Given the description of an element on the screen output the (x, y) to click on. 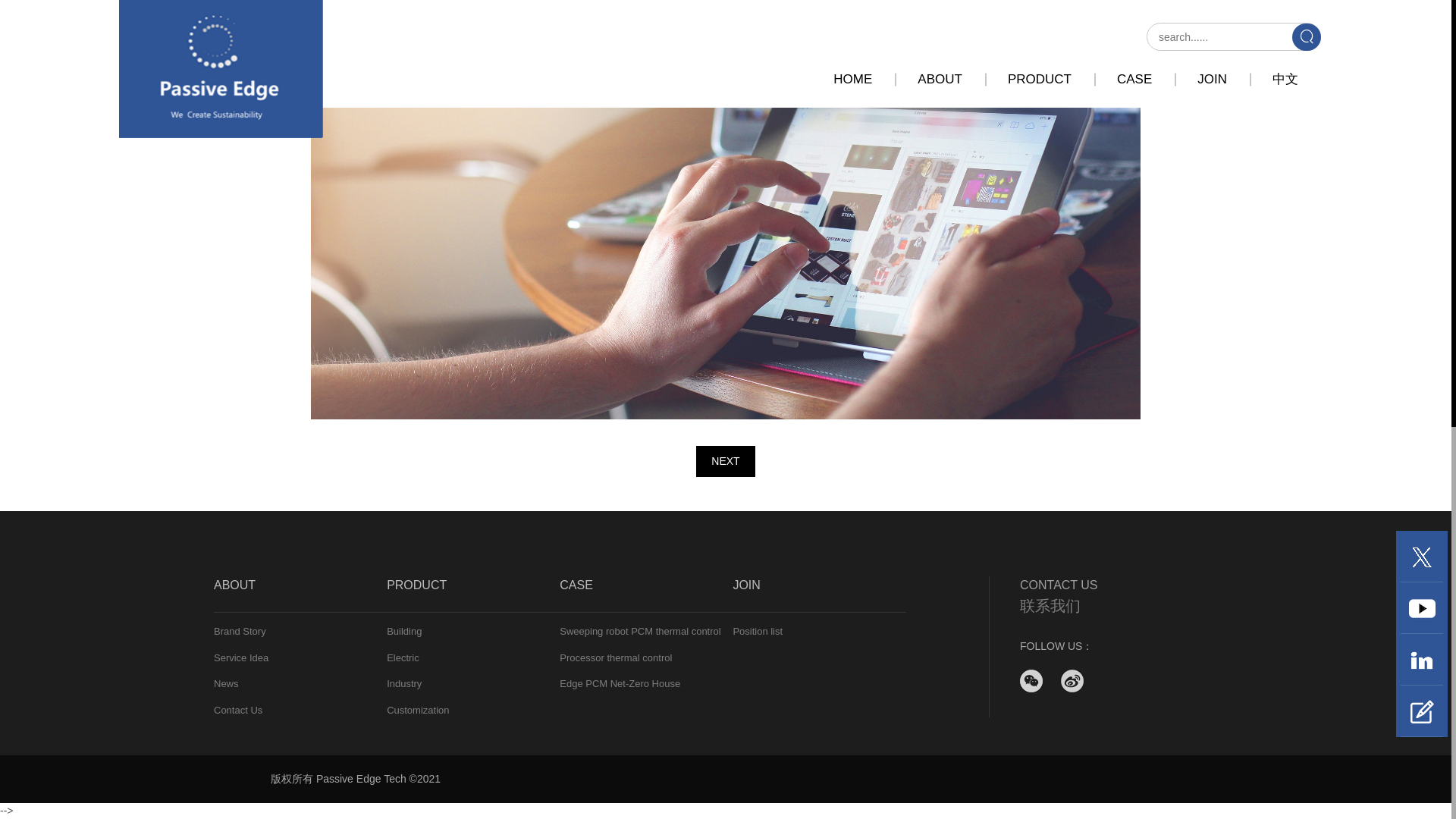
News (300, 683)
ABOUT (300, 594)
Brand Story (300, 631)
Building (473, 631)
Service Idea (300, 657)
Sweeping robot PCM thermal control (645, 631)
Electric (473, 657)
NEXT (724, 460)
CASE (645, 594)
Customization (473, 709)
Industry (473, 683)
Contact Us (300, 709)
PRODUCT (473, 594)
